Given the description of an element on the screen output the (x, y) to click on. 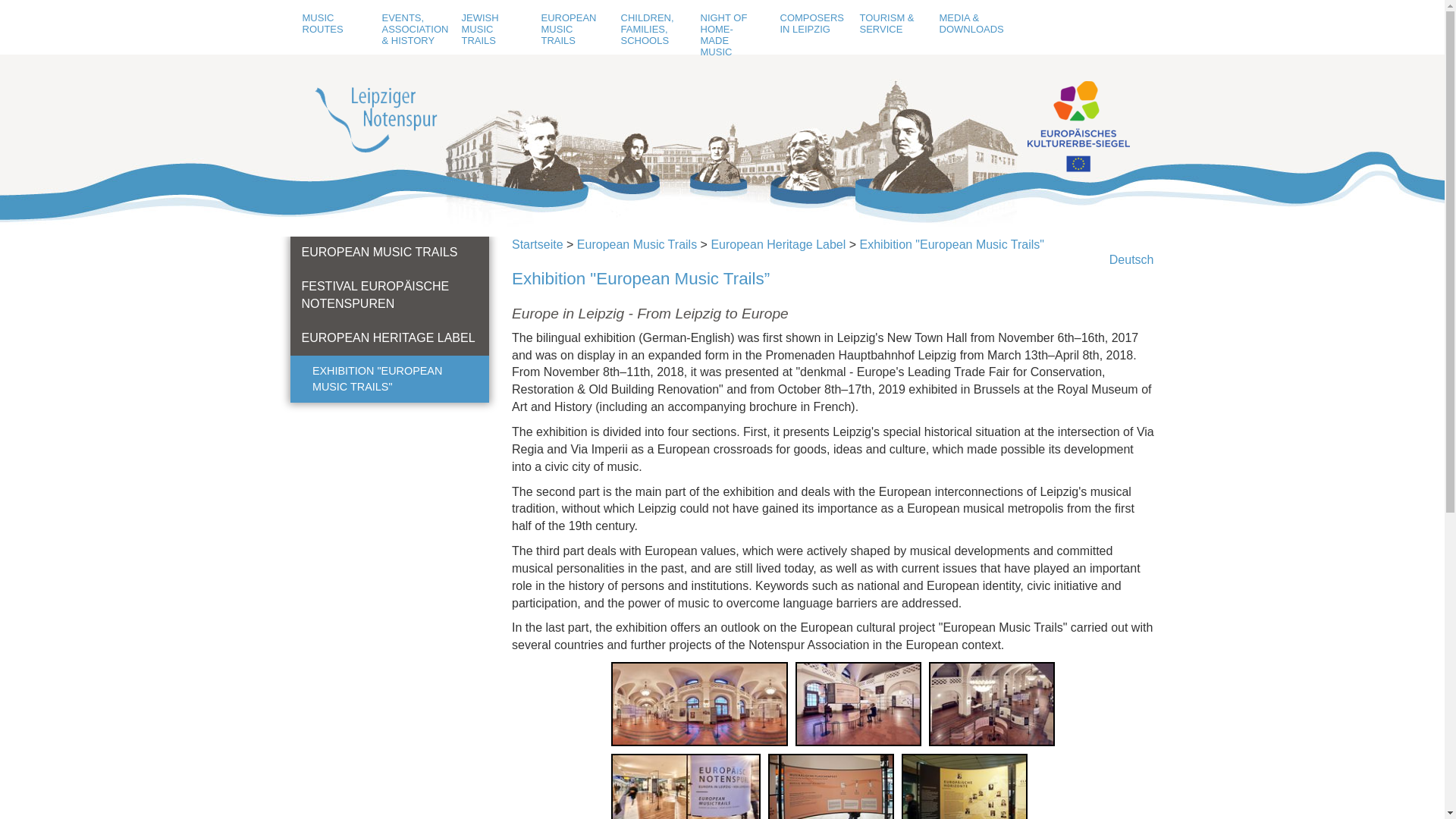
COMPOSERS IN LEIPZIG (808, 22)
MUSIC ROUTES (331, 22)
EUROPEAN MUSIC TRAILS (568, 28)
Exhibition "European Music Trails" (951, 244)
European Heritage Label (777, 244)
European Music Trails (636, 244)
JEWISH MUSIC TRAILS (489, 28)
NIGHT OF HOME-MADE MUSIC (728, 34)
CHILDREN, FAMILIES, SCHOOLS (649, 28)
Startseite (537, 244)
